Given the description of an element on the screen output the (x, y) to click on. 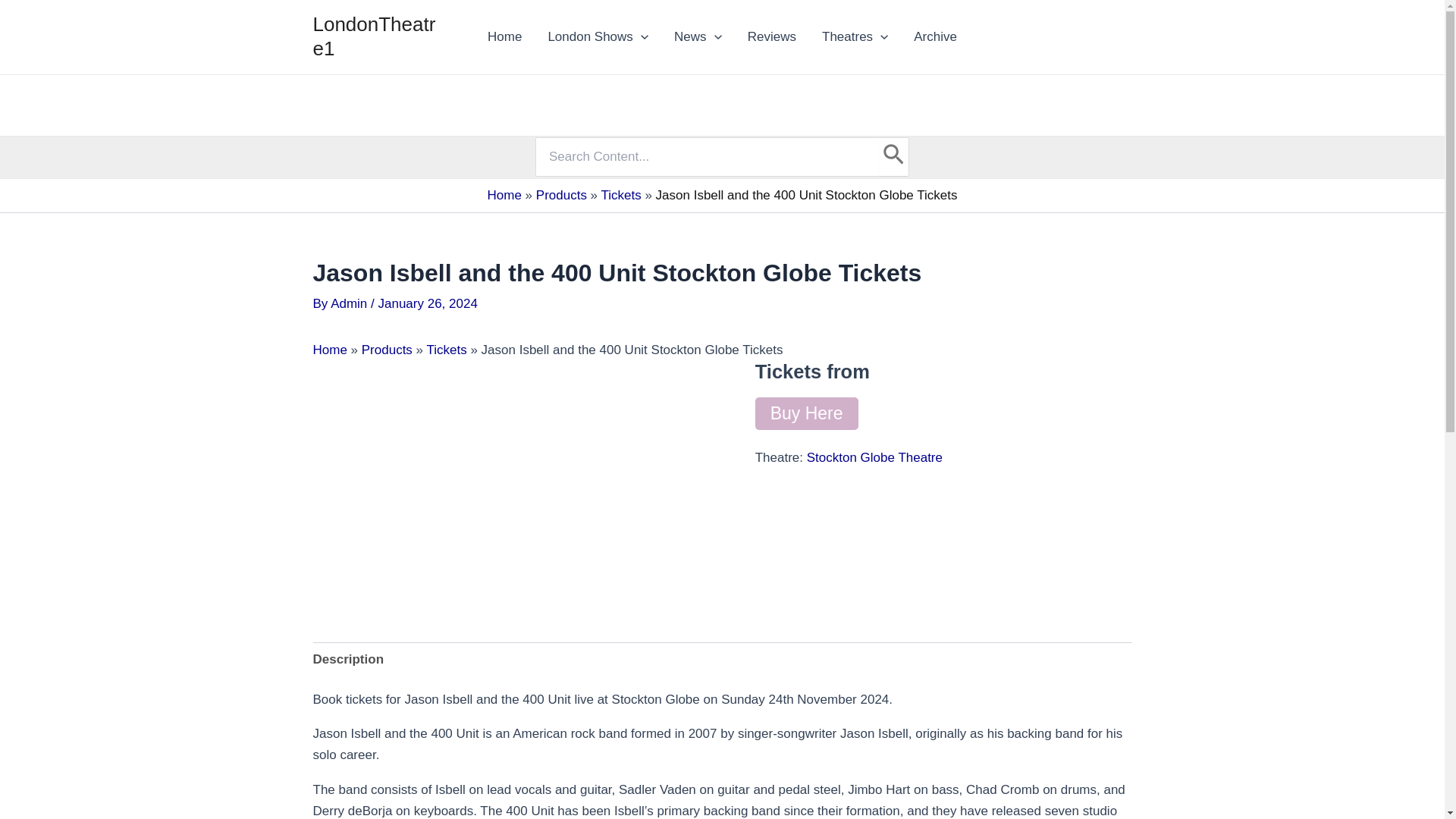
View all posts by Admin (350, 303)
London Theatre Reviews (772, 37)
Home (504, 37)
LondonTheatre1 (374, 36)
Archive (935, 37)
Home (504, 37)
Theatres (855, 37)
Theatre News (698, 37)
London Shows (597, 37)
News (698, 37)
